Given the description of an element on the screen output the (x, y) to click on. 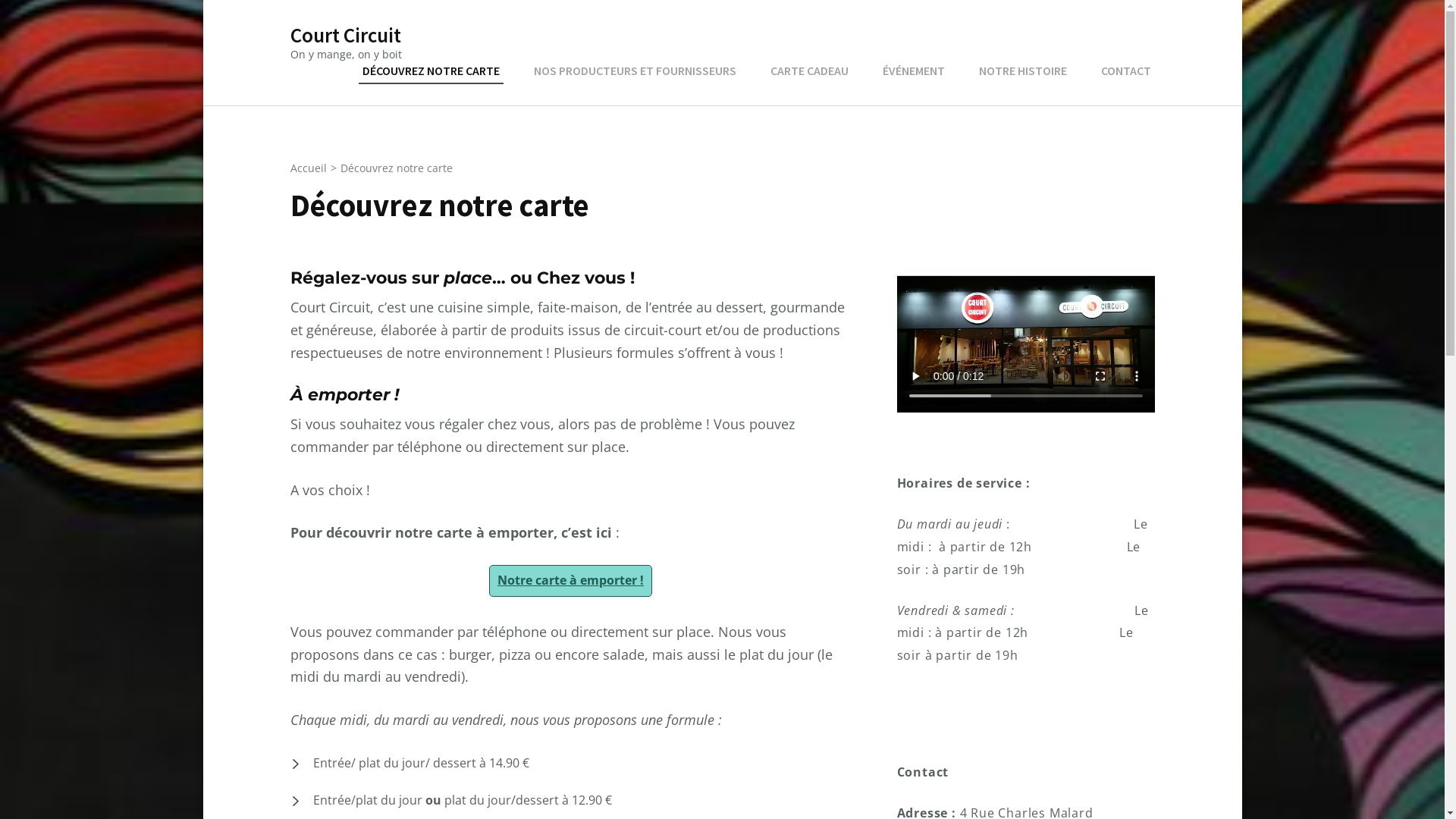
NOTRE HISTOIRE Element type: text (1022, 70)
CARTE CADEAU Element type: text (808, 70)
Court Circuit Element type: text (344, 34)
Accueil Element type: text (307, 167)
NOS PRODUCTEURS ET FOURNISSEURS Element type: text (634, 70)
CONTACT Element type: text (1125, 70)
